Given the description of an element on the screen output the (x, y) to click on. 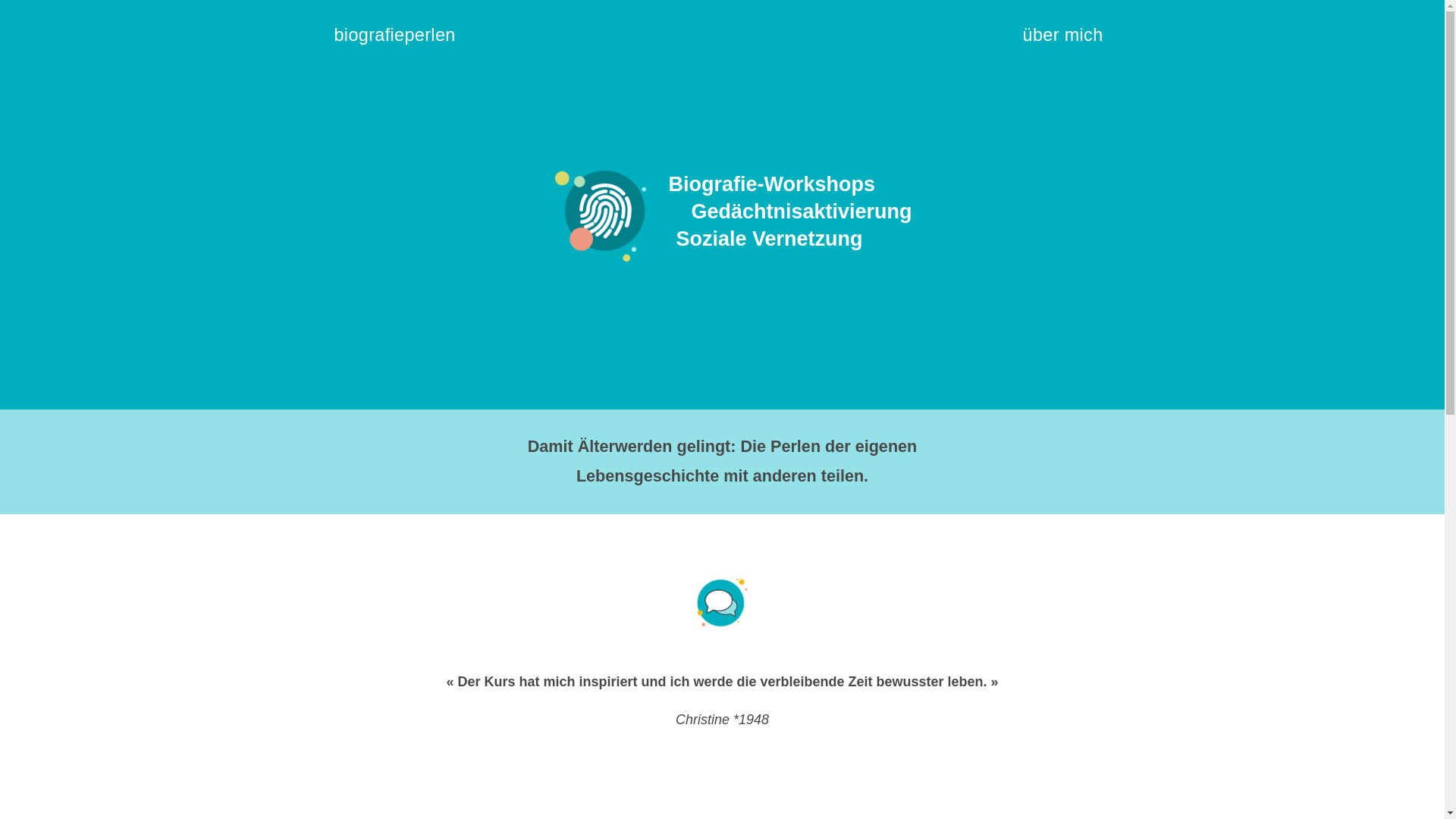
biografieperlen Element type: text (401, 40)
